Given the description of an element on the screen output the (x, y) to click on. 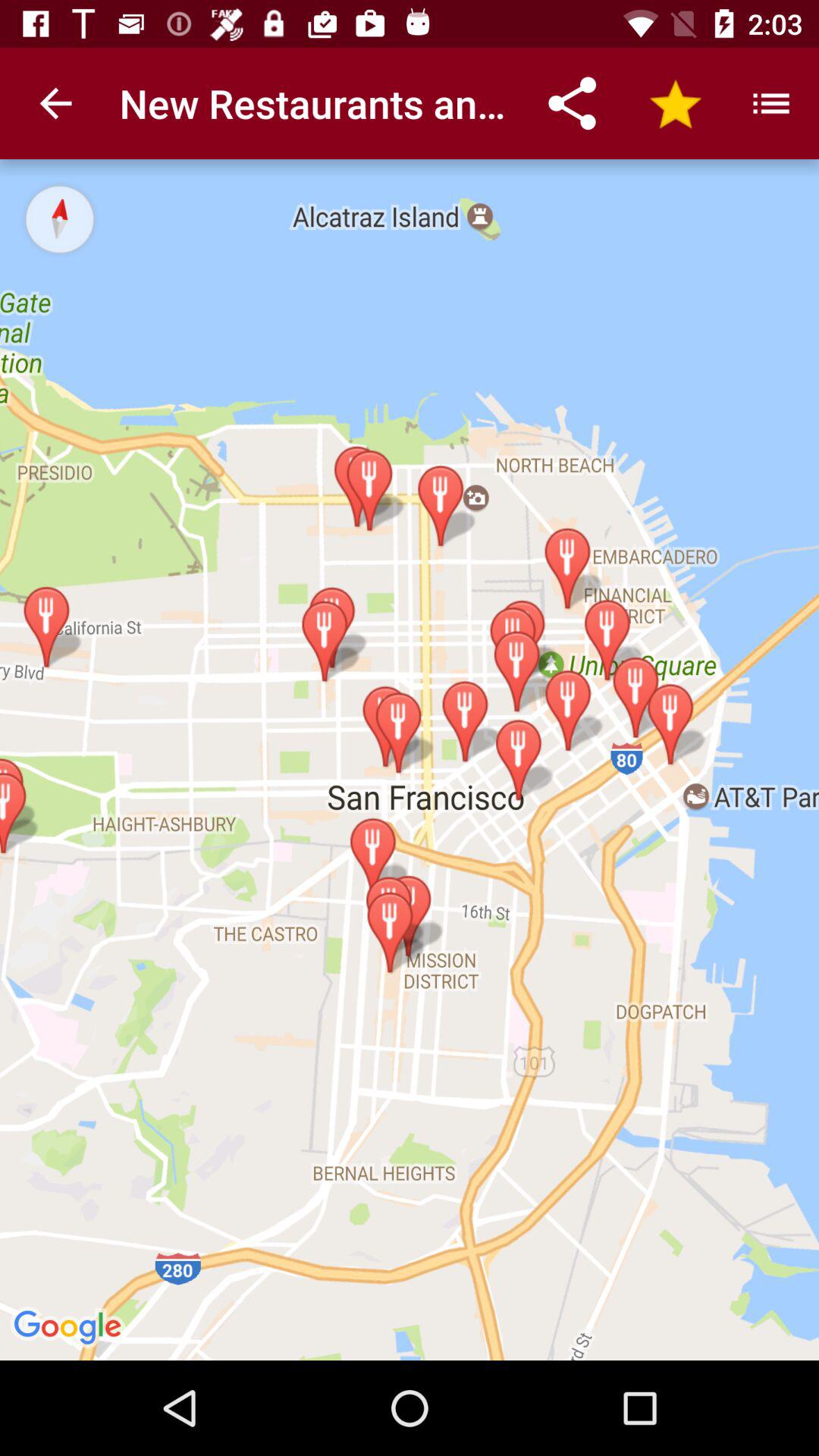
turn off the item at the center (409, 759)
